Given the description of an element on the screen output the (x, y) to click on. 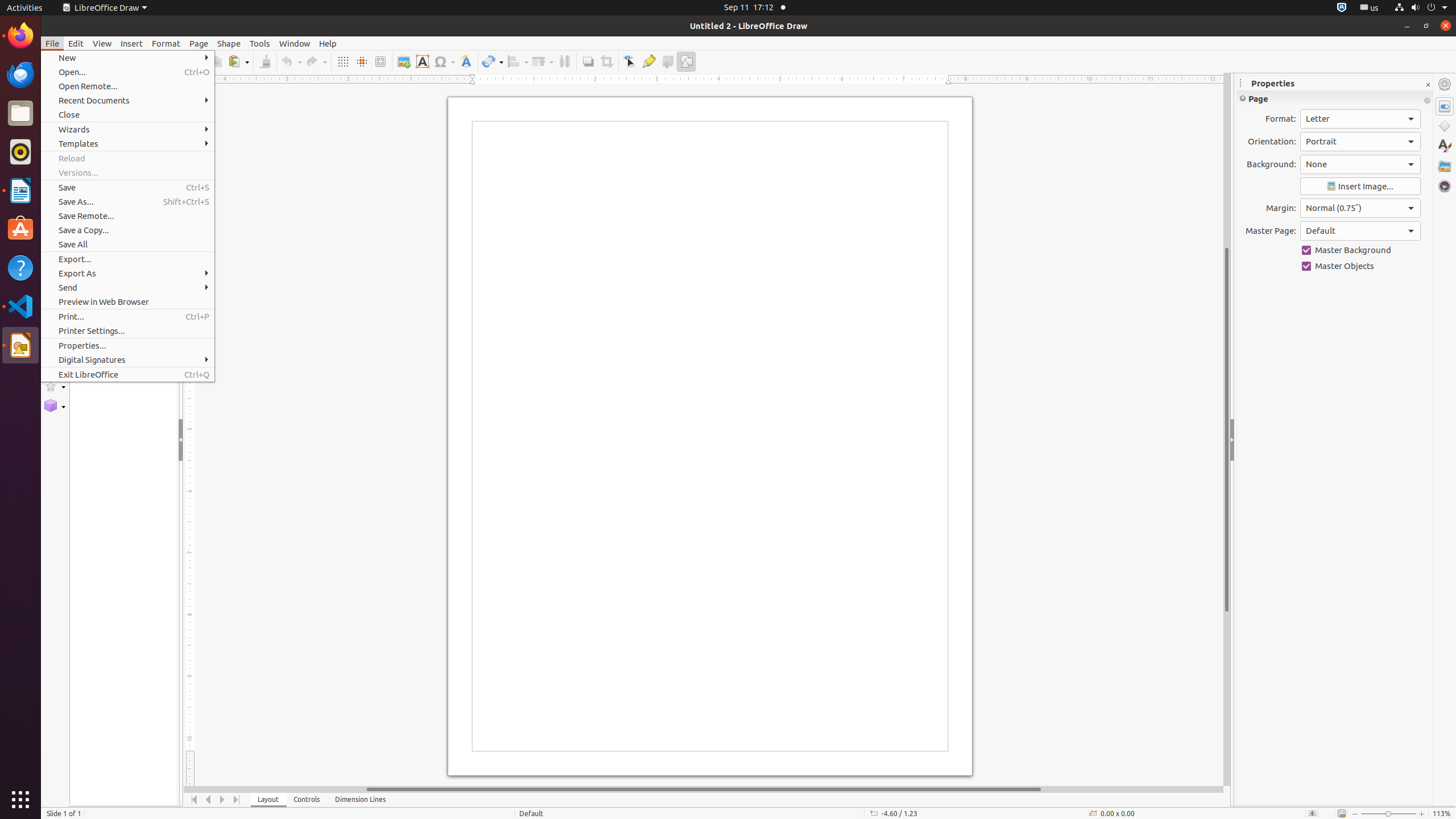
Templates Element type: menu (127, 143)
Orientation: Element type: combo-box (1360, 141)
Export... Element type: menu-item (127, 258)
Shape Element type: menu (228, 43)
Align Element type: push-button (517, 61)
